Given the description of an element on the screen output the (x, y) to click on. 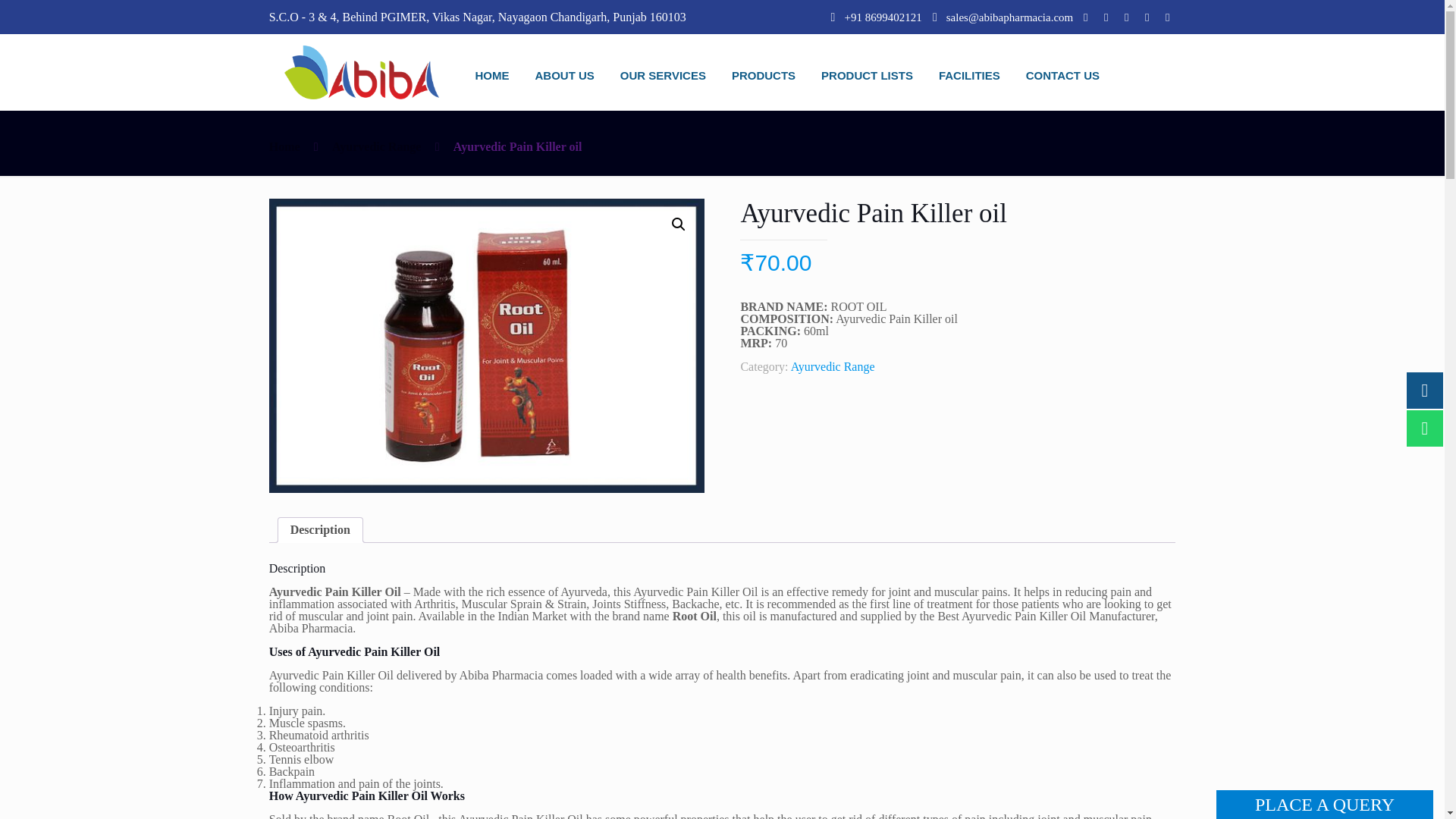
ROOT-OIL (486, 346)
Pinterest (1146, 17)
Abiba Pharma (361, 72)
Twitter (1105, 17)
OUR SERVICES (663, 75)
CONTACT US (1062, 75)
LinkedIn (1126, 17)
Facebook (1085, 17)
PRODUCTS (763, 75)
Instagram (1166, 17)
ABOUT US (564, 75)
PRODUCT LISTS (867, 75)
FACILITIES (969, 75)
